Given the description of an element on the screen output the (x, y) to click on. 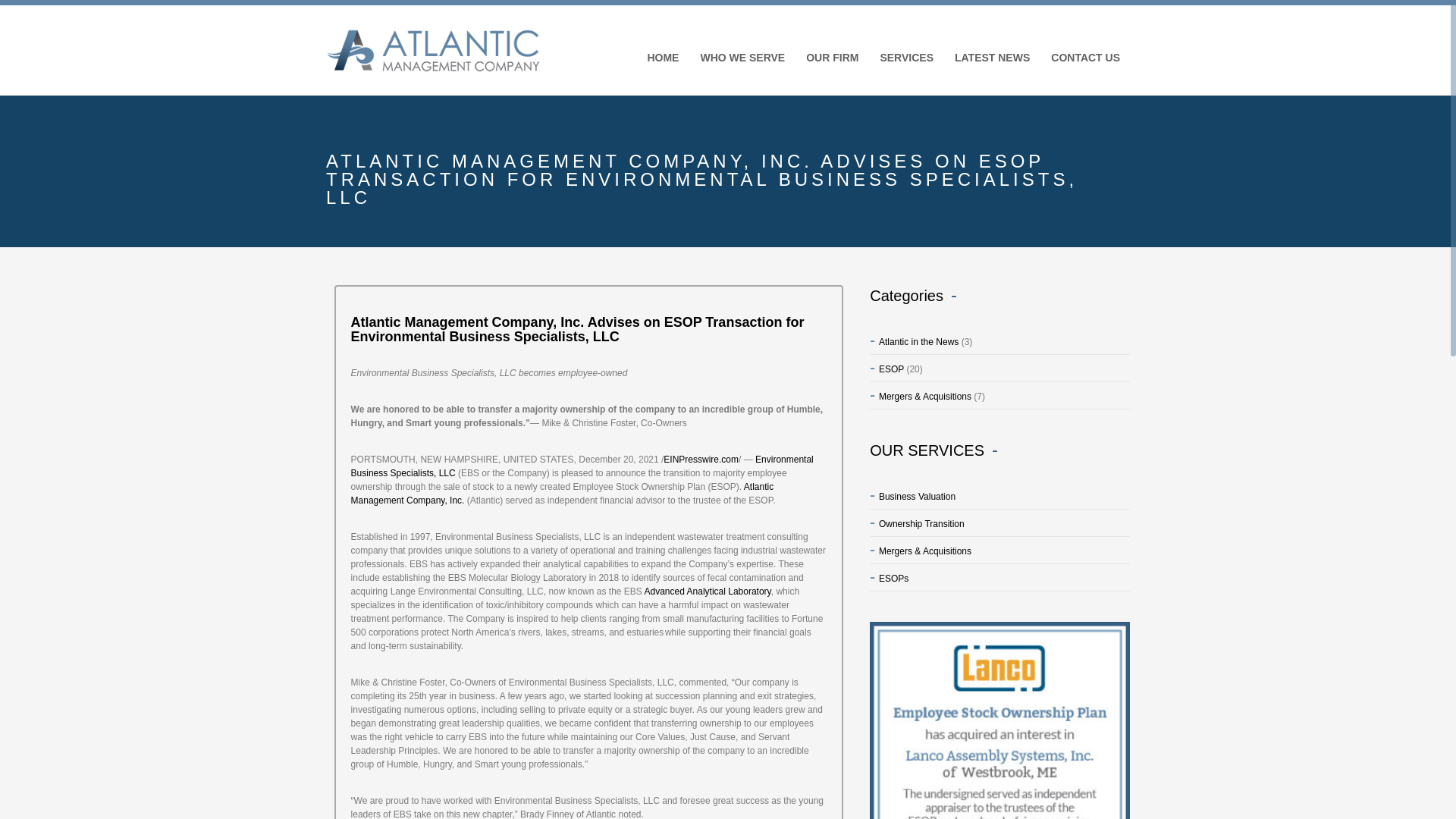
LATEST NEWS (990, 57)
ESOP (886, 368)
Atlantic Management Company, Inc. (562, 493)
Ownership Transition (916, 523)
WHO WE SERVE (741, 57)
EINPresswire.com (700, 459)
SERVICES (905, 57)
HOME (661, 57)
Business Valuation (912, 496)
CONTACT US (1084, 57)
OUR FIRM (831, 57)
Advanced Analytical Laboratory (708, 591)
ESOPs (888, 578)
Environmental Business Specialists, LLC (581, 466)
